Given the description of an element on the screen output the (x, y) to click on. 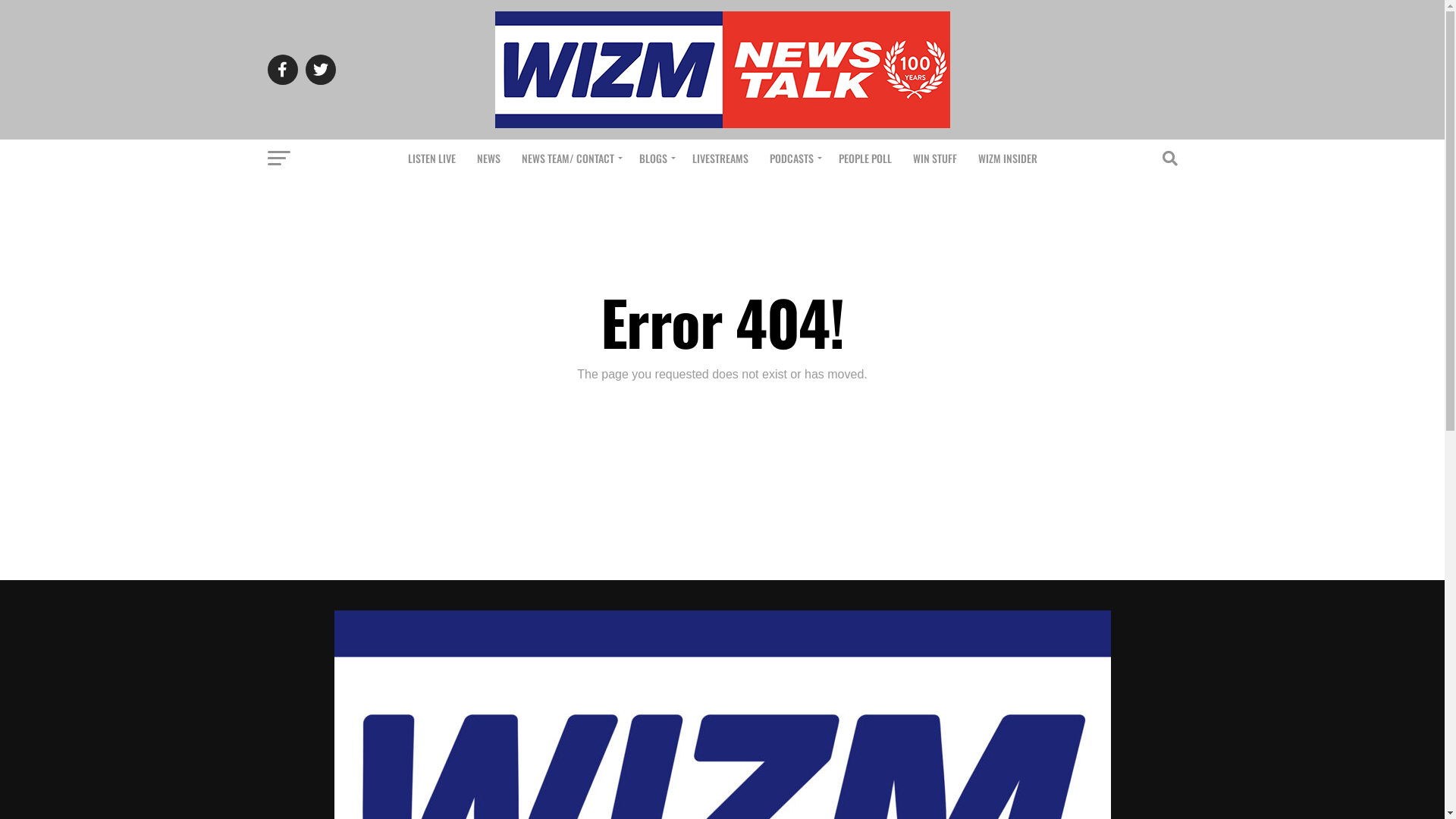
BLOGS Element type: text (654, 158)
NEWS TEAM/ CONTACT Element type: text (569, 158)
NEWS Element type: text (487, 158)
PODCASTS Element type: text (792, 158)
PEOPLE POLL Element type: text (864, 158)
LISTEN LIVE Element type: text (431, 158)
WIZM INSIDER Element type: text (1007, 158)
WIN STUFF Element type: text (934, 158)
LIVESTREAMS Element type: text (719, 158)
